Given the description of an element on the screen output the (x, y) to click on. 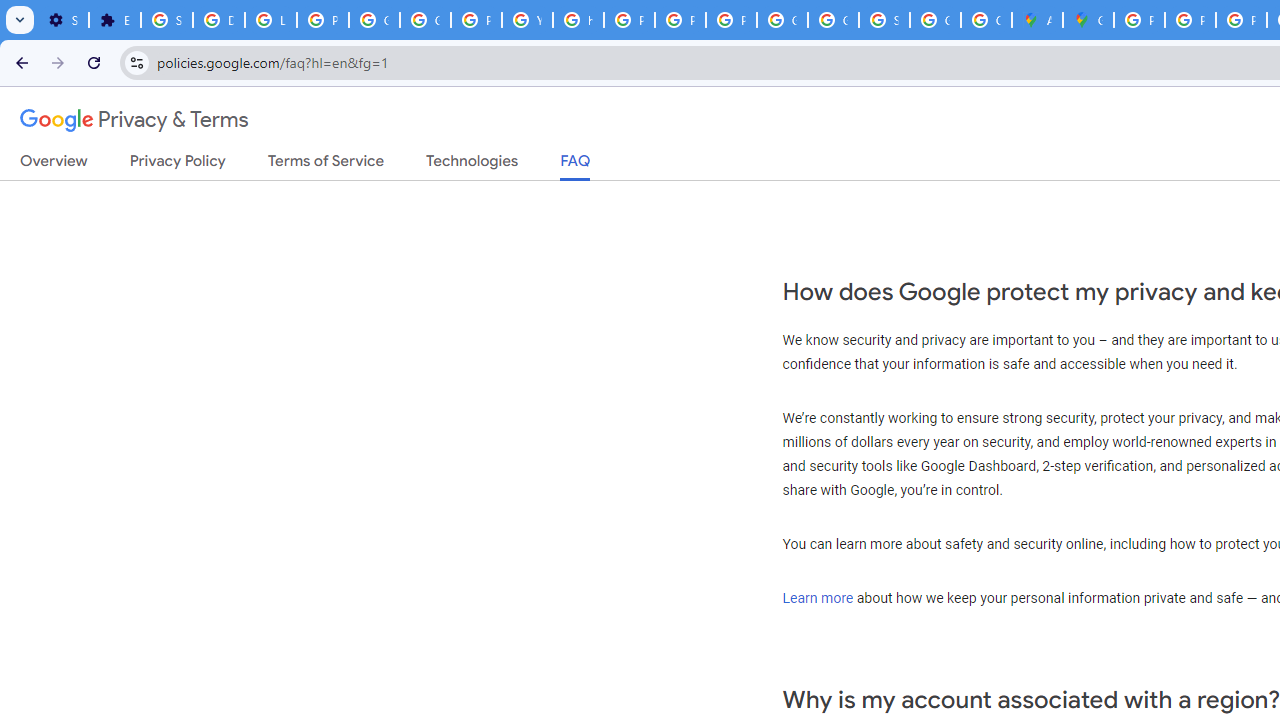
Sign in - Google Accounts (884, 20)
Create your Google Account (986, 20)
Privacy Help Center - Policies Help (629, 20)
Delete photos & videos - Computer - Google Photos Help (218, 20)
YouTube (526, 20)
